Given the description of an element on the screen output the (x, y) to click on. 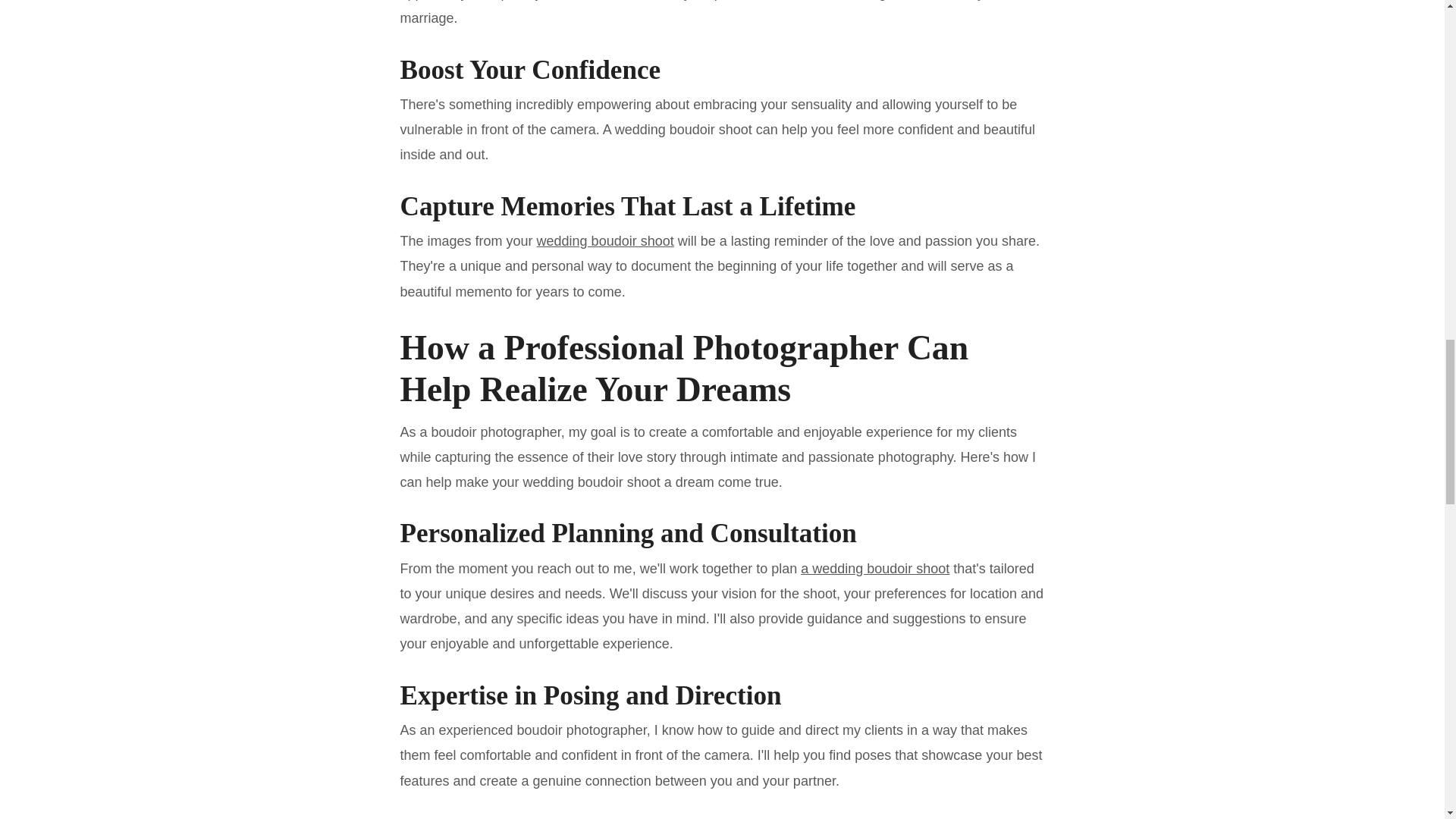
a wedding boudoir shoot (874, 568)
wedding boudoir shoot (605, 240)
